Given the description of an element on the screen output the (x, y) to click on. 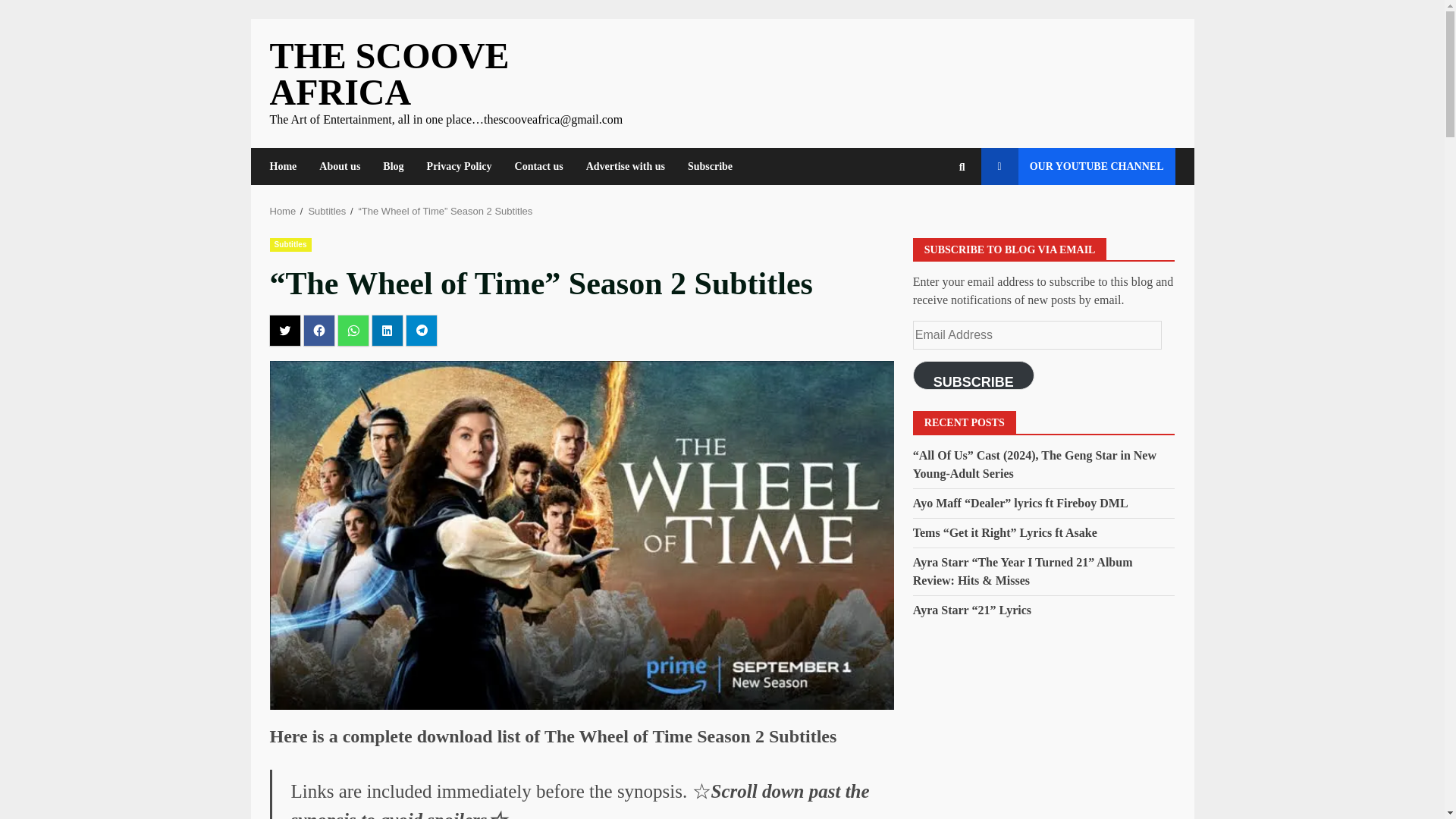
Subtitles (290, 244)
Subtitles (326, 211)
Subscribe (704, 166)
Click to share on Facebook (317, 330)
Click to share on Telegram (421, 330)
Click to share on WhatsApp (352, 330)
Click to share on LinkedIn (386, 330)
Search (933, 217)
Advertise with us (626, 166)
Contact us (539, 166)
